Given the description of an element on the screen output the (x, y) to click on. 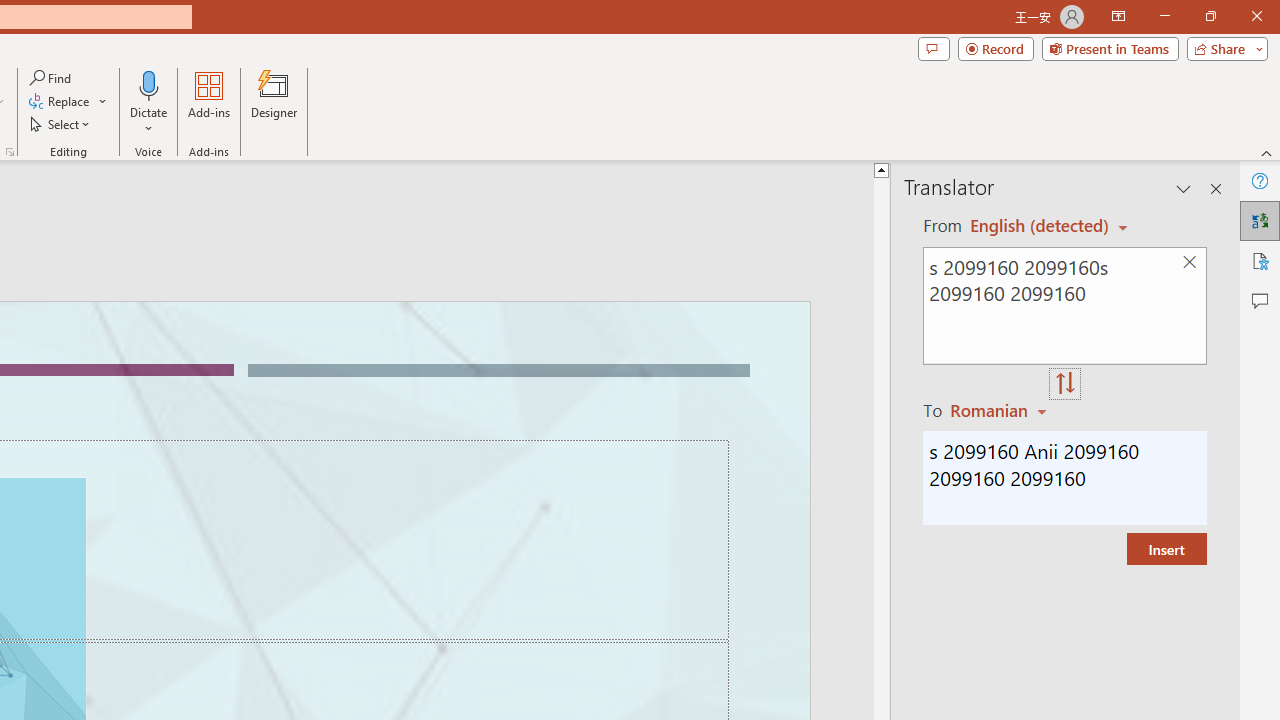
Czech (1001, 409)
